Given the description of an element on the screen output the (x, y) to click on. 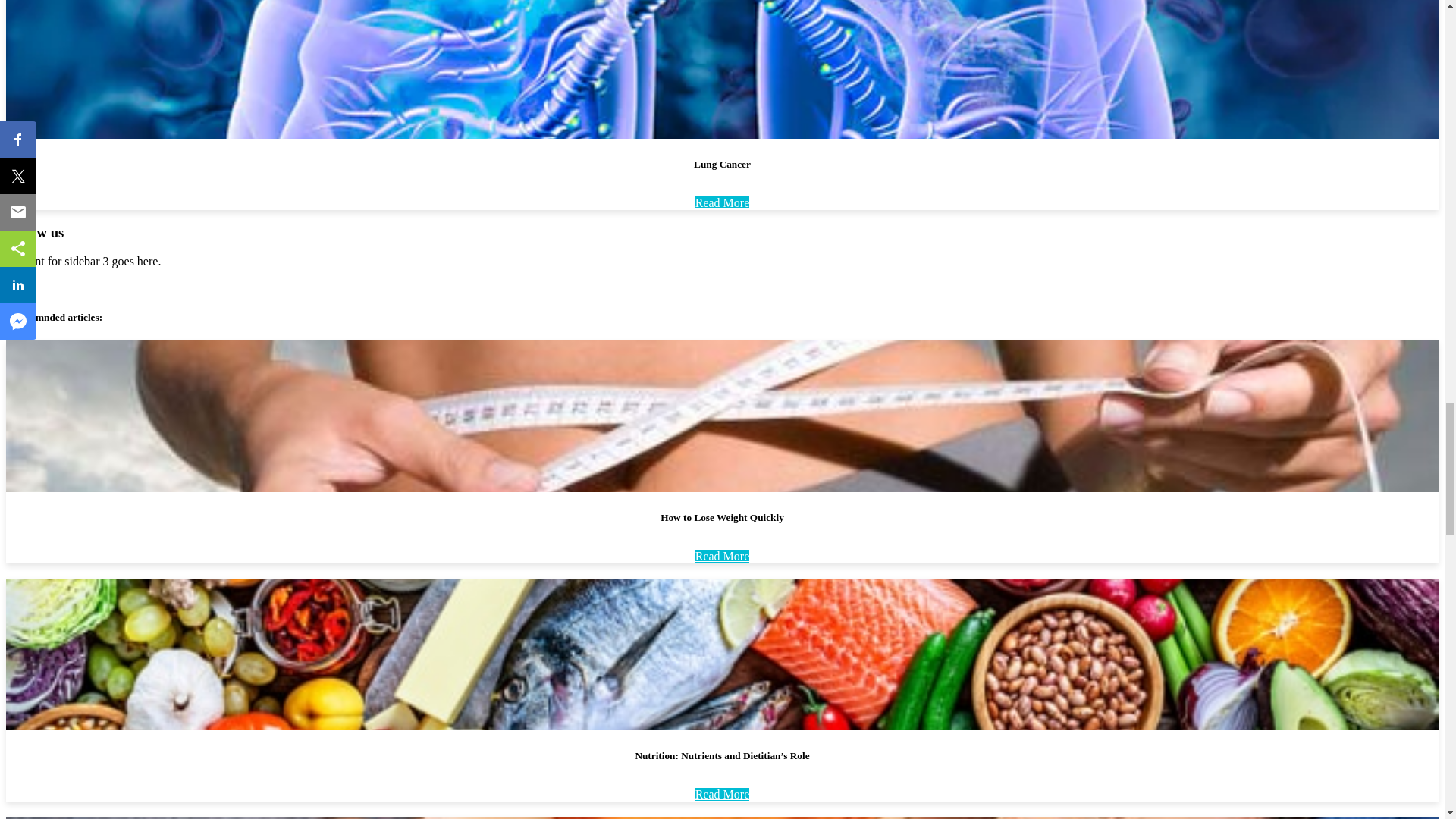
Read More (722, 555)
Read More (722, 202)
Read More (722, 793)
